Given the description of an element on the screen output the (x, y) to click on. 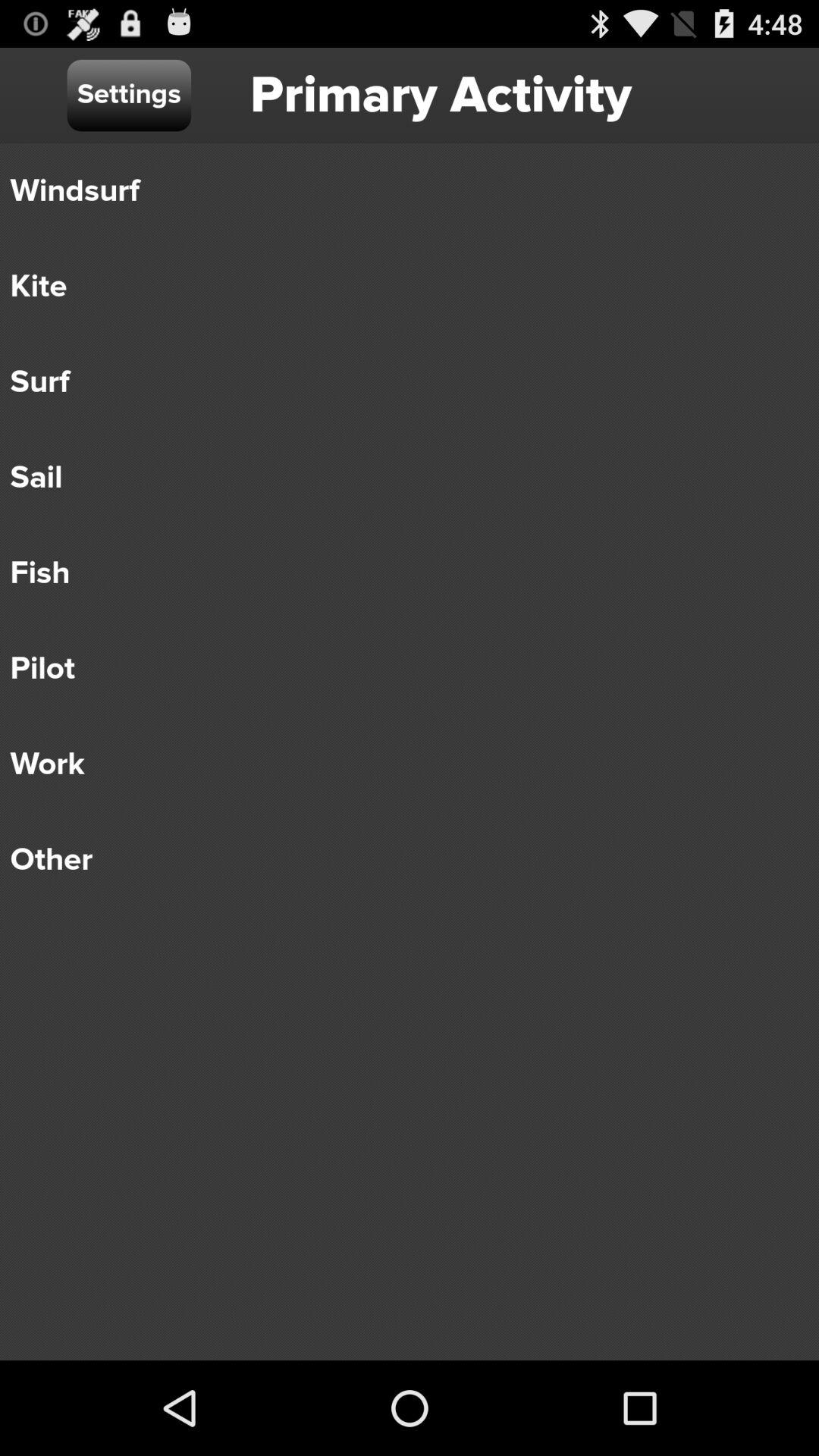
click the item below surf icon (399, 477)
